Given the description of an element on the screen output the (x, y) to click on. 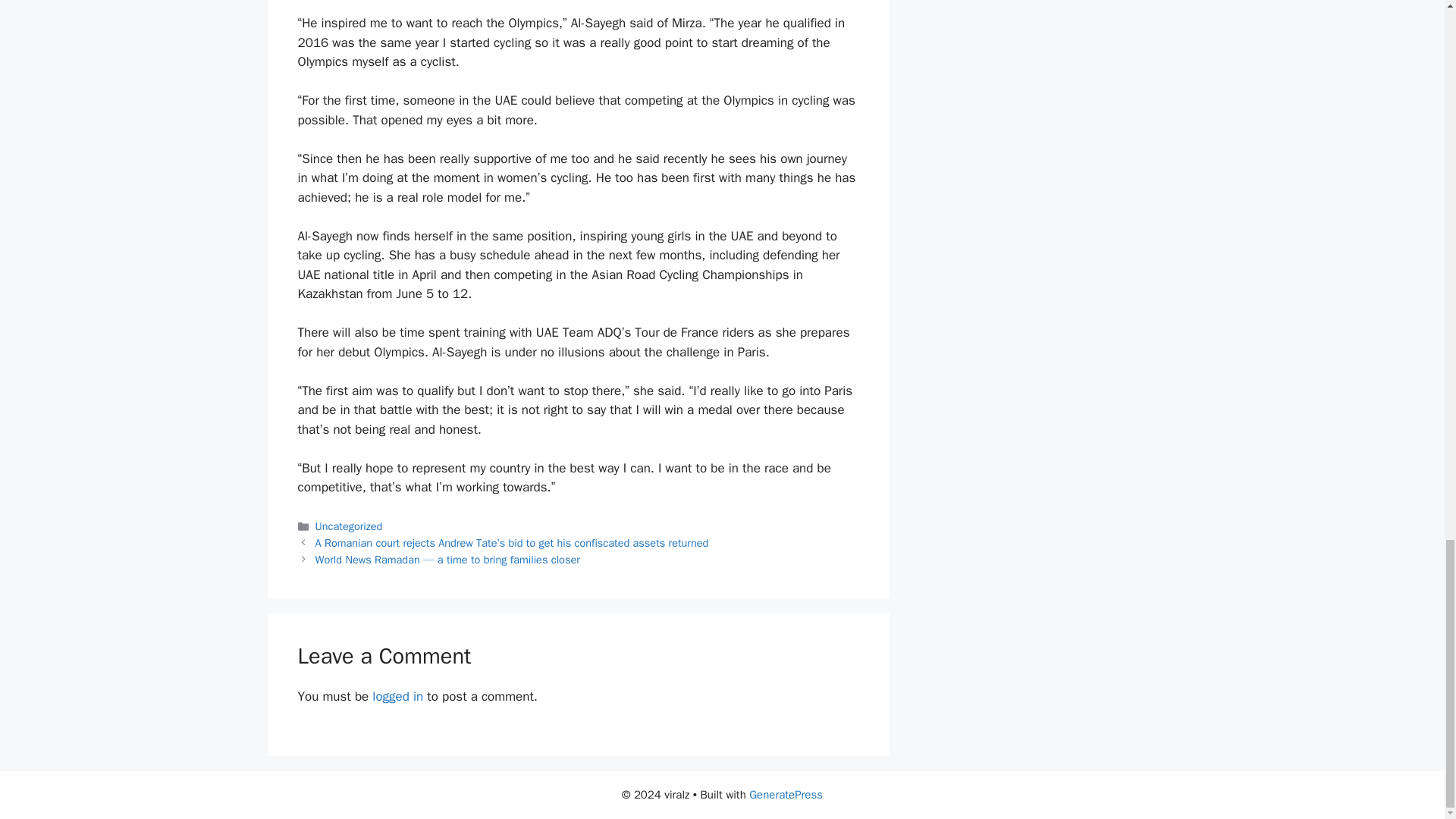
Uncategorized (348, 526)
GeneratePress (785, 794)
logged in (397, 696)
